Given the description of an element on the screen output the (x, y) to click on. 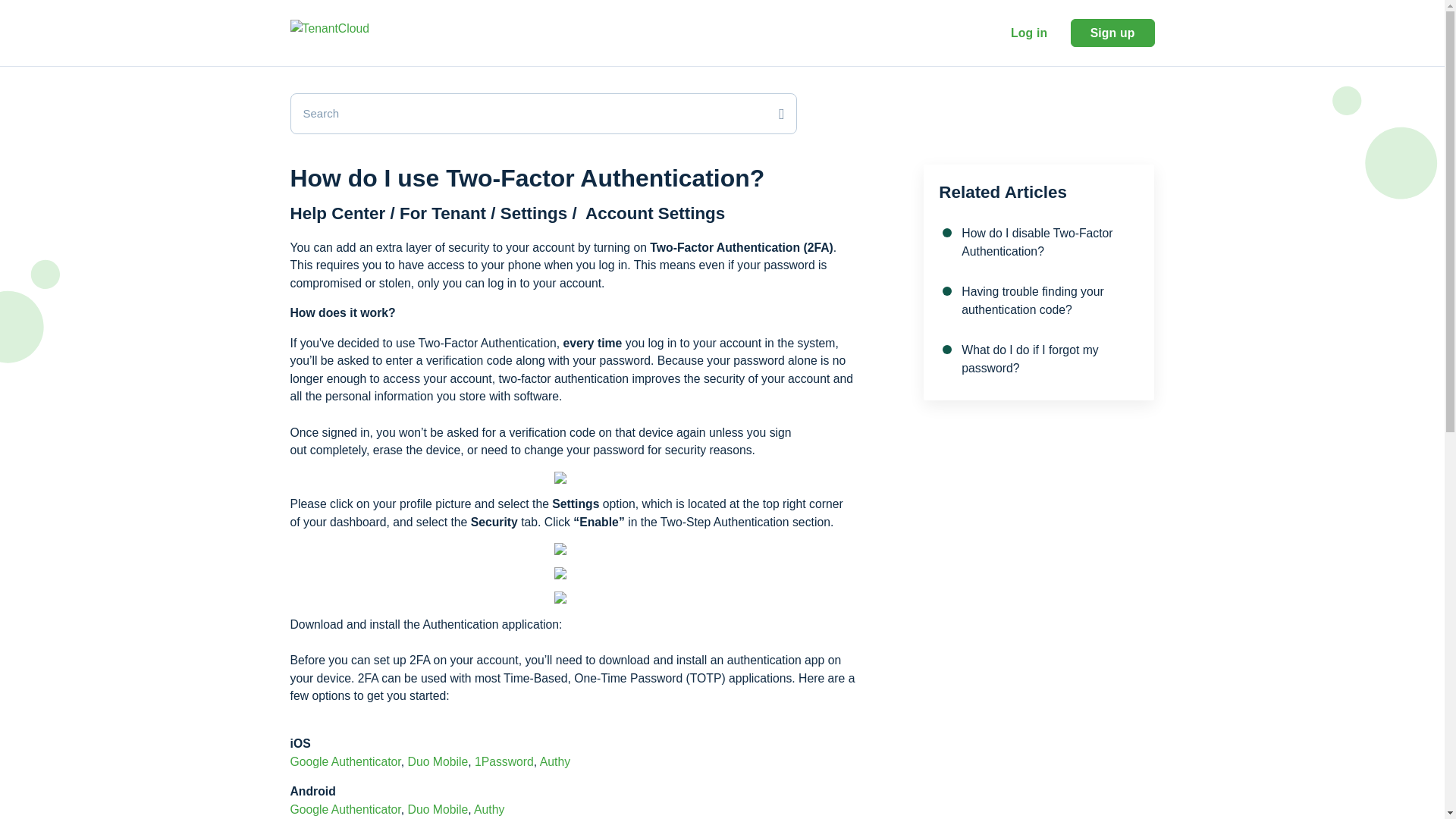
Search (542, 113)
Help Center (339, 212)
Google Authenticator (344, 761)
log in (1028, 32)
For Tenant (444, 212)
sign up (1112, 32)
Settings (536, 212)
